Given the description of an element on the screen output the (x, y) to click on. 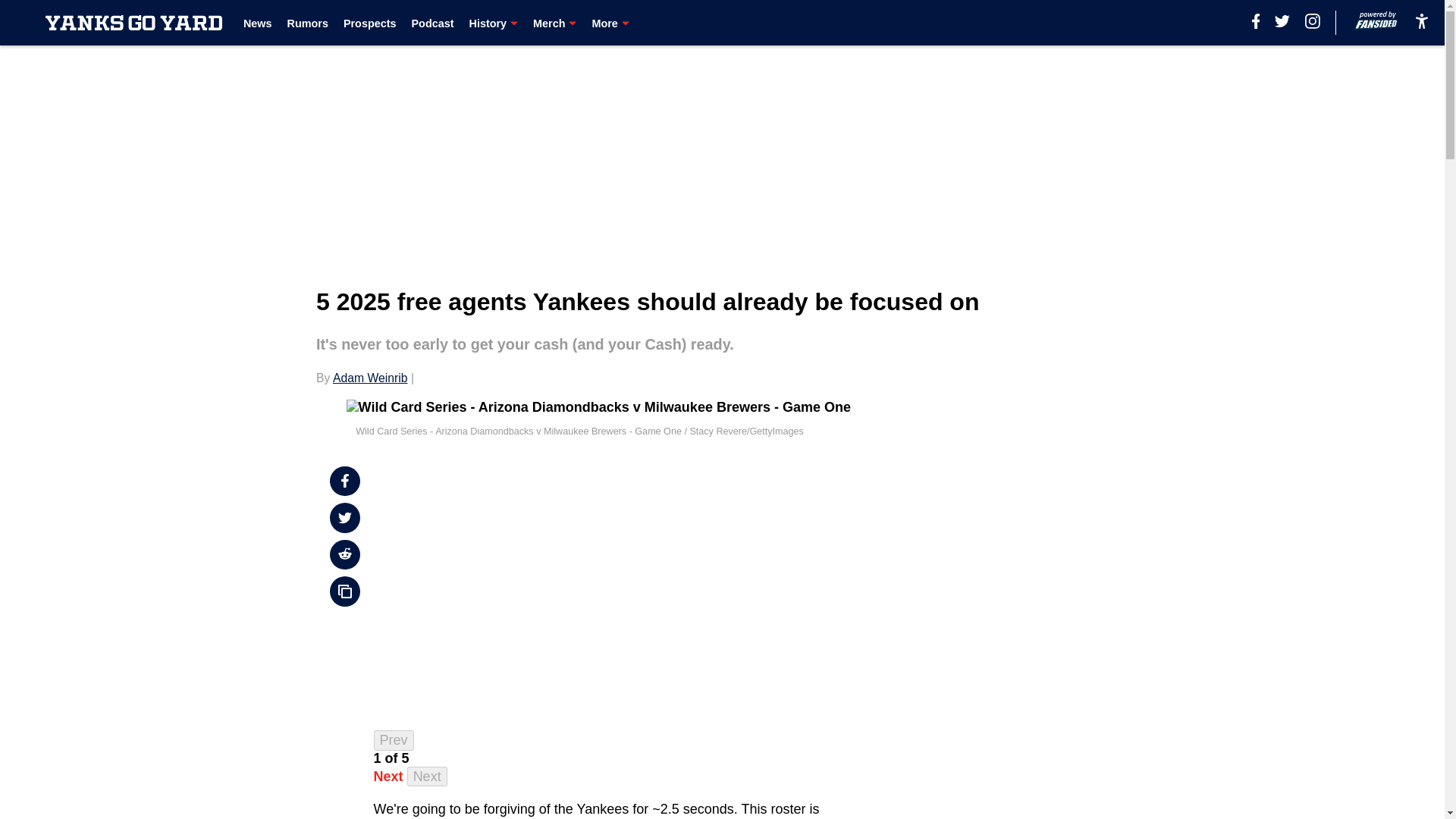
Adam Weinrib (370, 377)
Podcast (431, 23)
Rumors (307, 23)
Next (388, 776)
Prev (393, 740)
Prospects (369, 23)
News (257, 23)
